Given the description of an element on the screen output the (x, y) to click on. 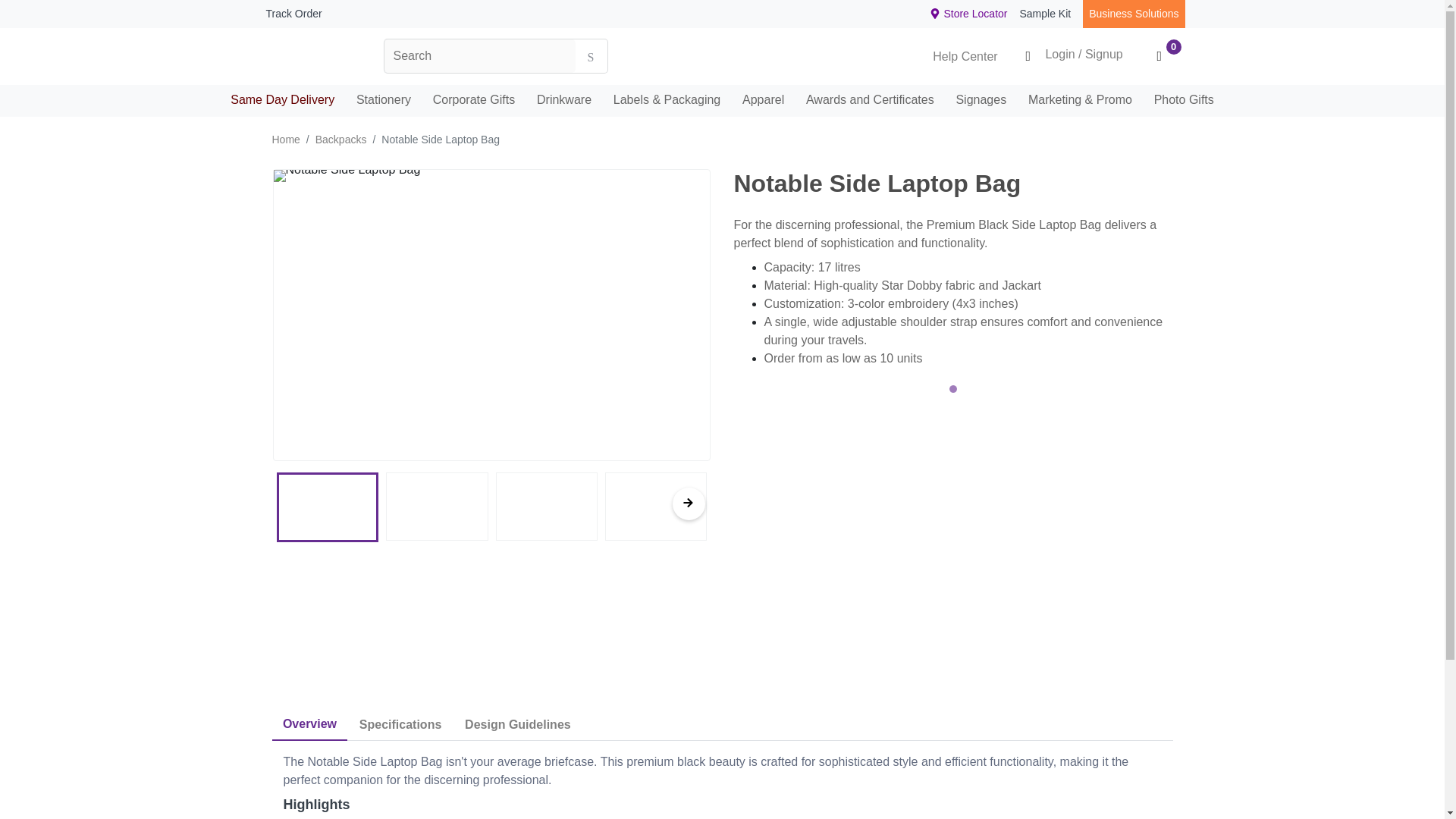
Store Locator (968, 13)
Photo Gifts (1183, 100)
Design Guidelines (517, 725)
Corporate Gifts (473, 100)
Help Center (954, 56)
Drinkware (563, 100)
Overview (308, 725)
Signages (980, 100)
Sample Kit (1045, 13)
Specifications (399, 725)
0 (1159, 56)
Home (284, 139)
Backpacks (340, 139)
Apparel (763, 100)
Same Day Delivery (282, 100)
